Given the description of an element on the screen output the (x, y) to click on. 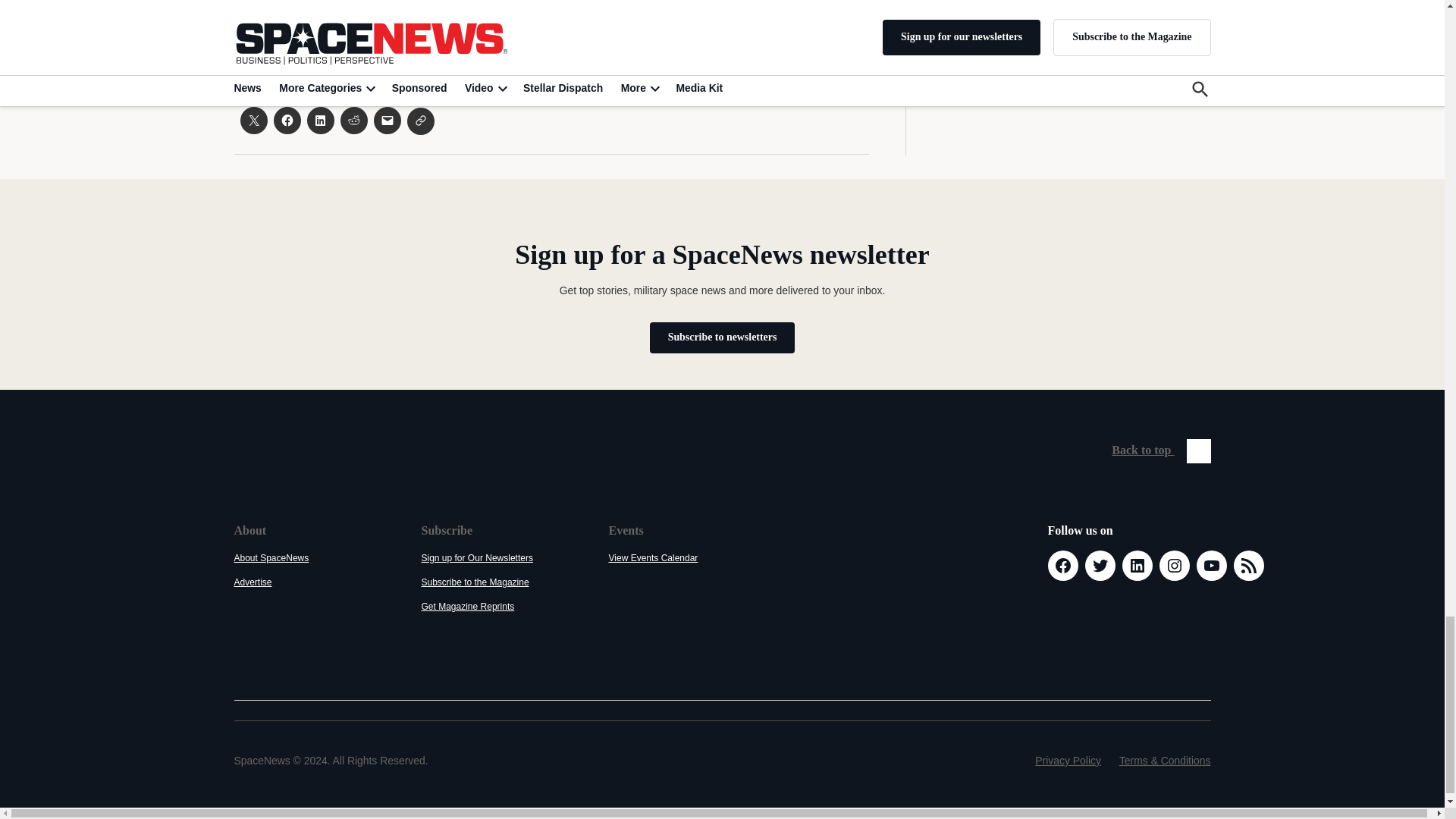
Click to share on Facebook (286, 120)
Click to share on Reddit (352, 120)
Click to share on X (253, 120)
Click to email a link to a friend (386, 120)
Click to share on LinkedIn (319, 120)
